Given the description of an element on the screen output the (x, y) to click on. 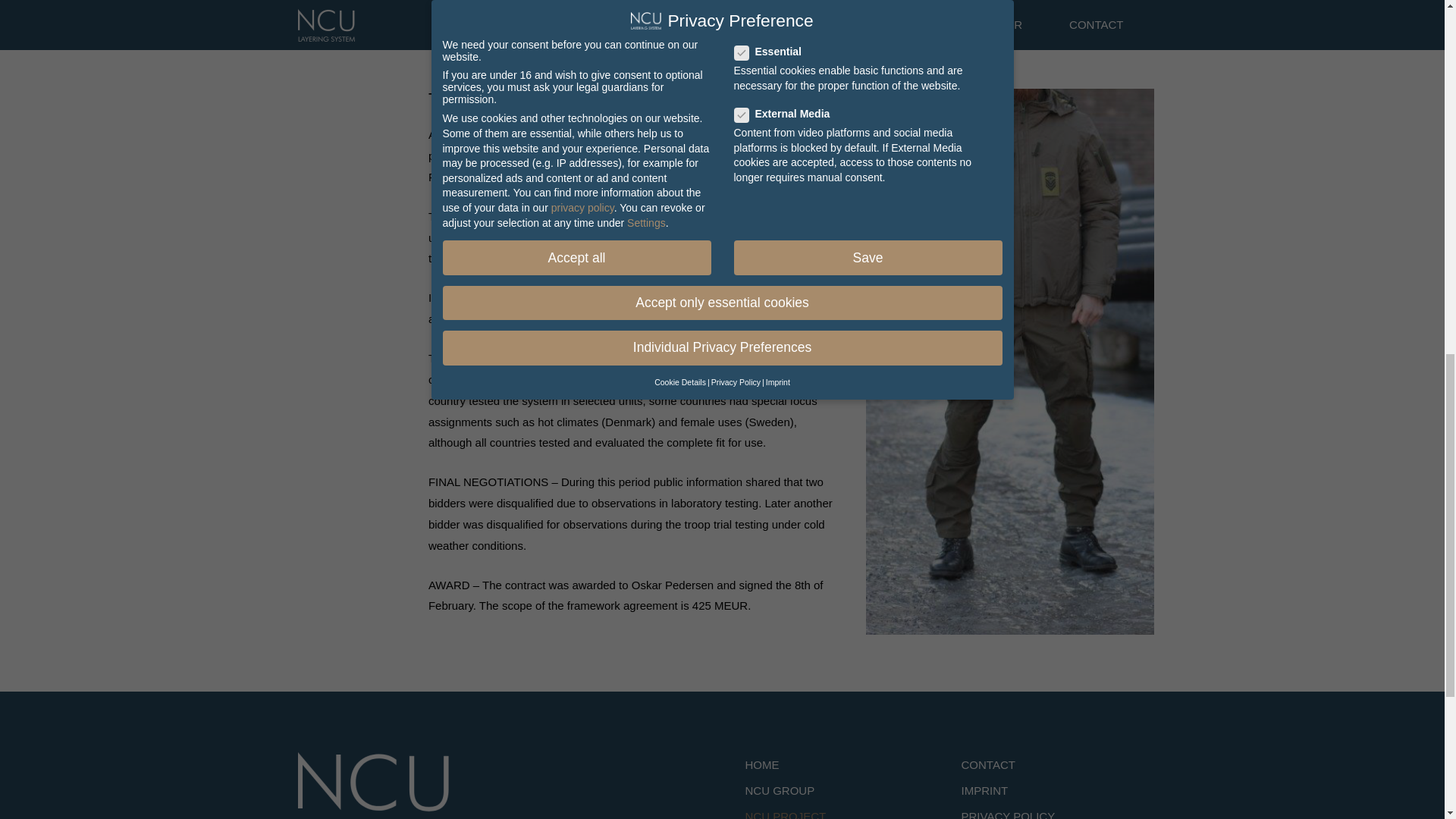
Artwork 1 (372, 785)
